Given the description of an element on the screen output the (x, y) to click on. 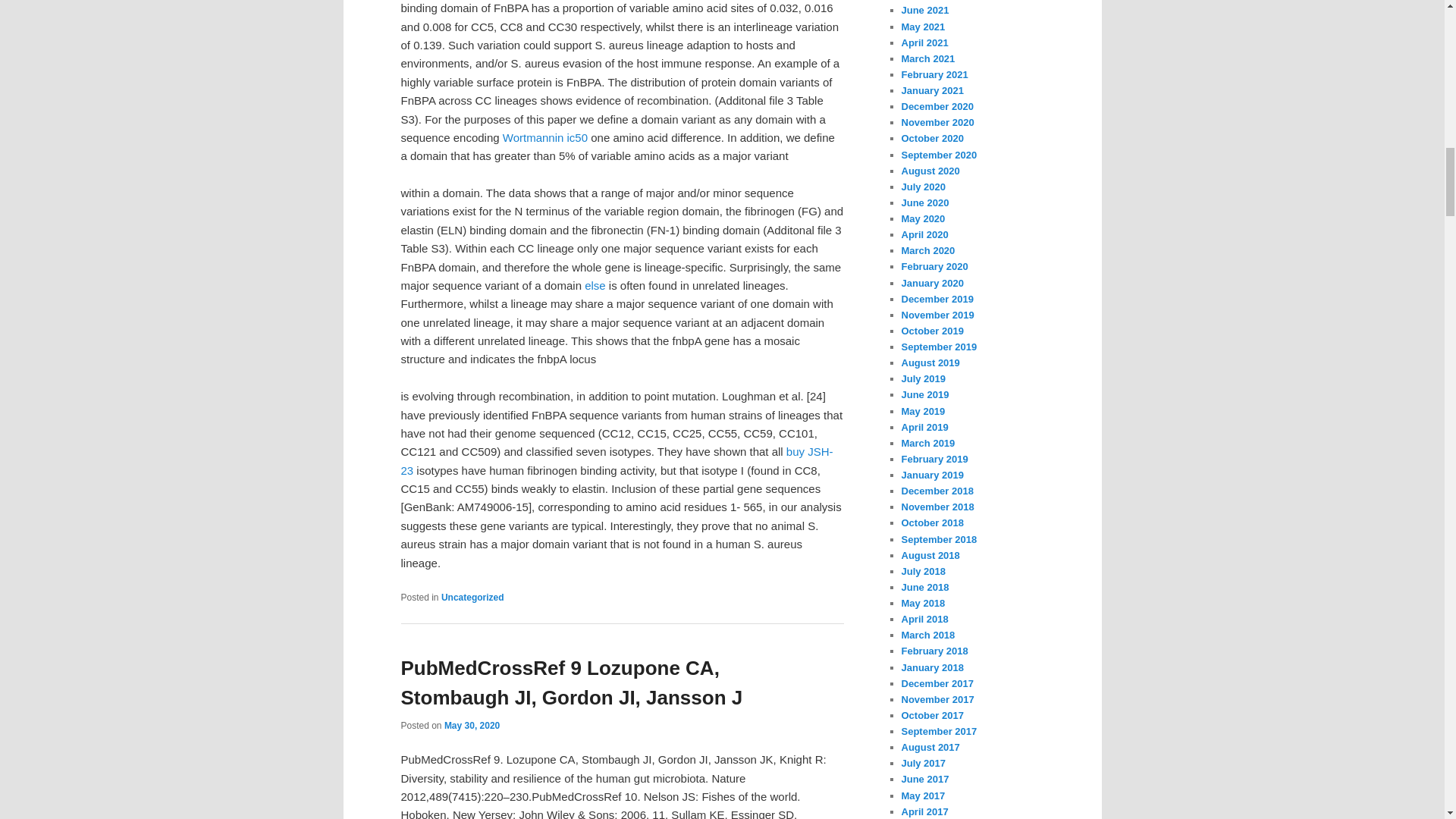
Wortmannin ic50 (545, 137)
7:17 am (471, 725)
View all posts in Uncategorized (472, 597)
Uncategorized (472, 597)
buy JSH-23 (616, 460)
else (595, 285)
May 30, 2020 (471, 725)
